Given the description of an element on the screen output the (x, y) to click on. 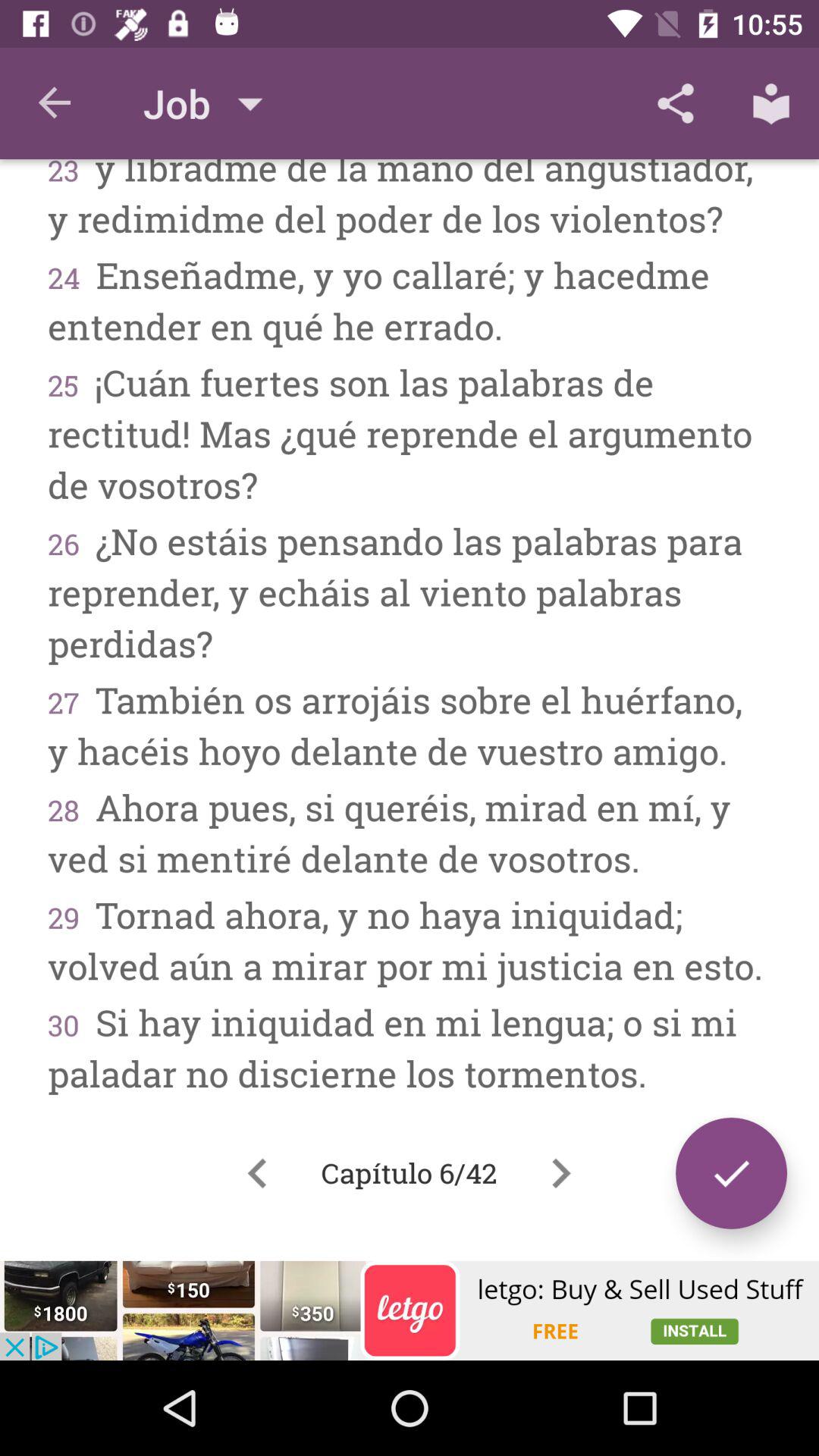
turn off icon below 30 si hay item (731, 1173)
